Given the description of an element on the screen output the (x, y) to click on. 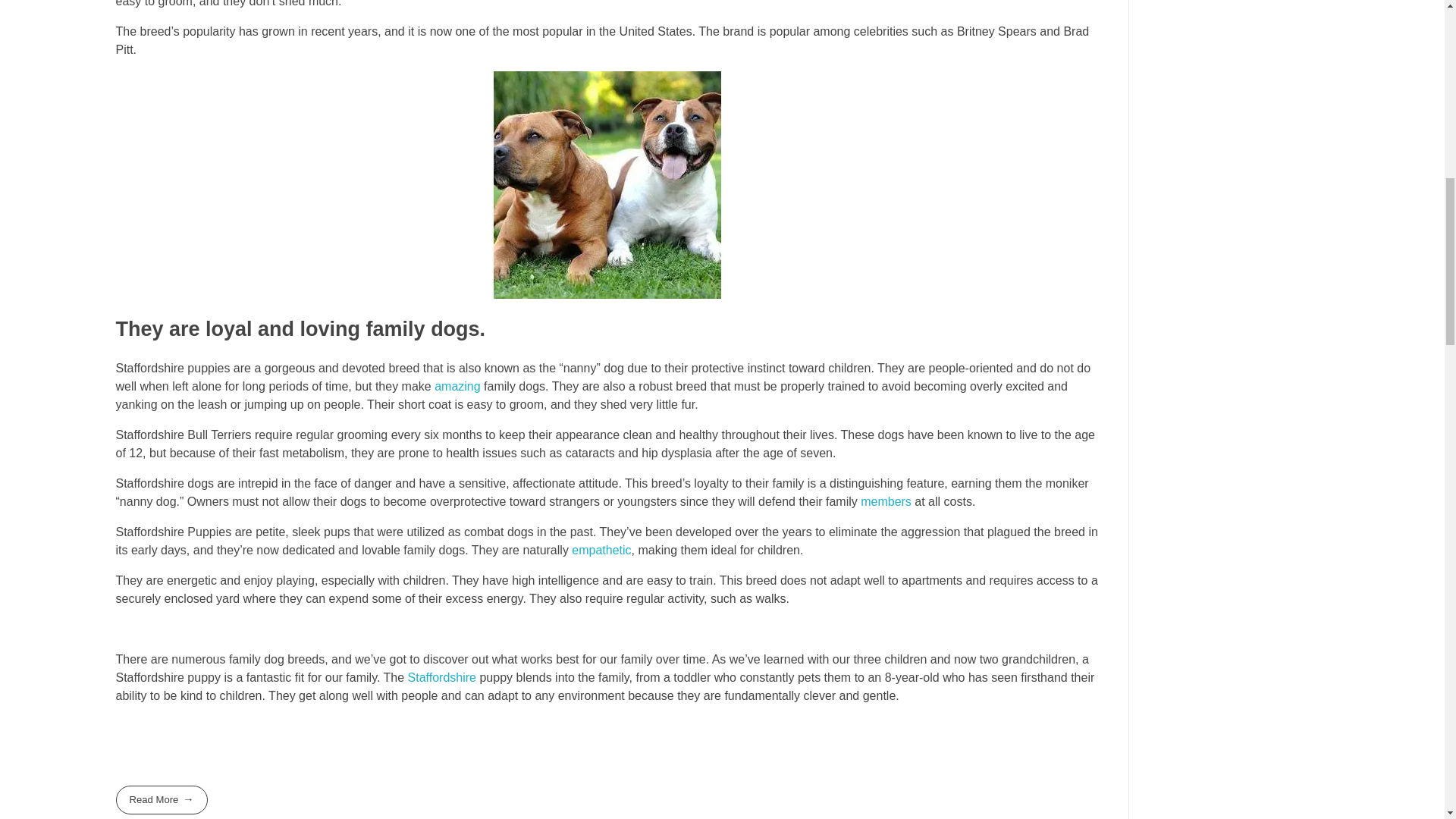
Read More (160, 799)
empathetic (601, 549)
Staffordshire (441, 676)
amazing (456, 386)
members (885, 501)
